Given the description of an element on the screen output the (x, y) to click on. 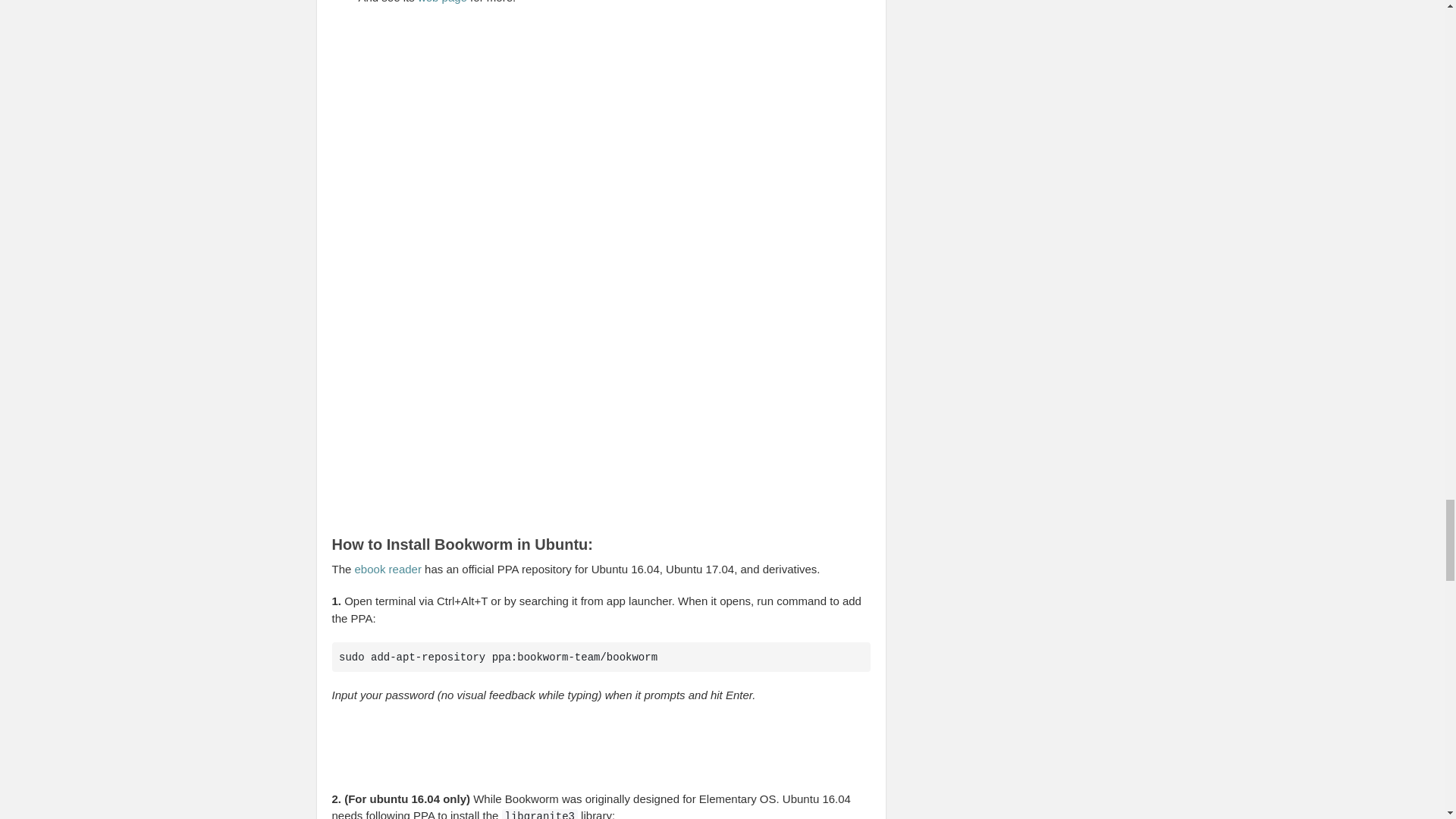
ebook reader (388, 568)
web page (442, 2)
